Given the description of an element on the screen output the (x, y) to click on. 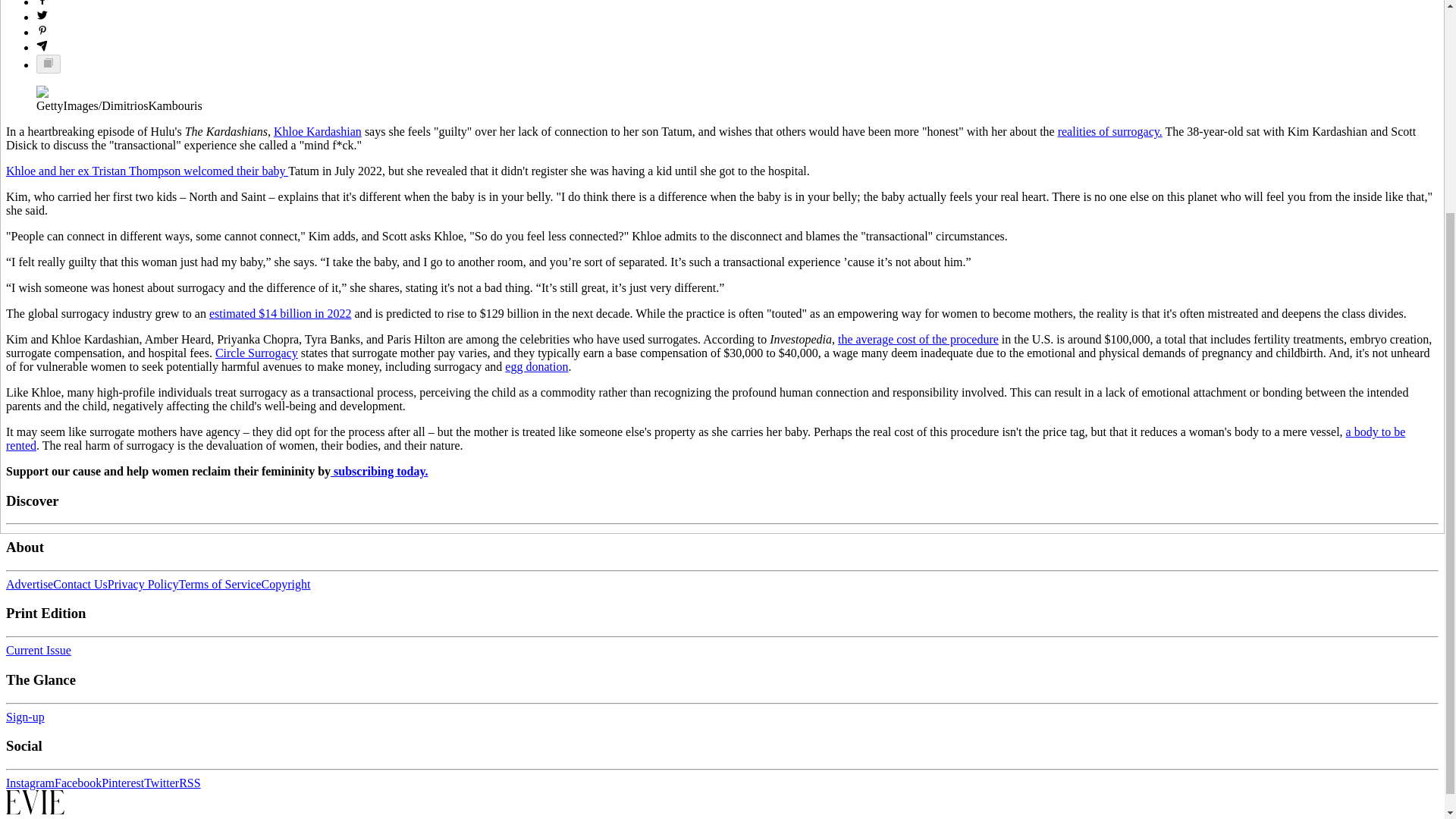
Privacy Policy (143, 584)
Circle Surrogacy (256, 352)
Advertise (28, 584)
Twitter (161, 782)
Pinterest (122, 782)
Terms of Service (220, 584)
Current Issue (38, 649)
Sign-up (25, 716)
Contact Us (79, 584)
Copyright (286, 584)
the average cost of the procedure (918, 338)
a body to be rented (705, 438)
Facebook (78, 782)
realities of surrogacy. (1109, 131)
Instagram (30, 782)
